Given the description of an element on the screen output the (x, y) to click on. 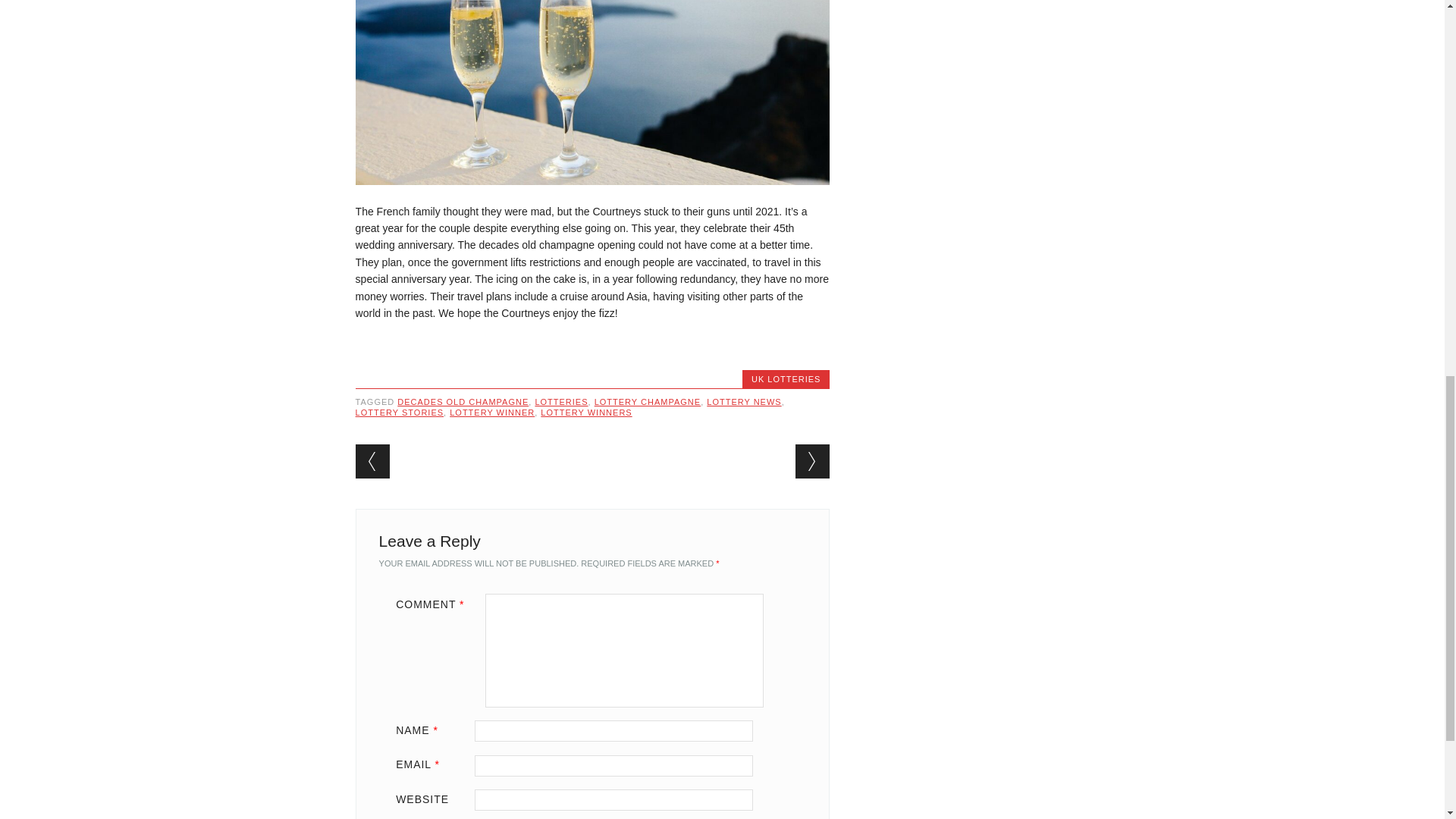
LOTTERY WINNERS (585, 411)
LOTTERY WINNER (491, 411)
LOTTERIES (561, 401)
LOTTERY CHAMPAGNE (647, 401)
DECADES OLD CHAMPAGNE (462, 401)
LOTTERY STORIES (399, 411)
LOTTERY NEWS (743, 401)
UK LOTTERIES (786, 379)
